Given the description of an element on the screen output the (x, y) to click on. 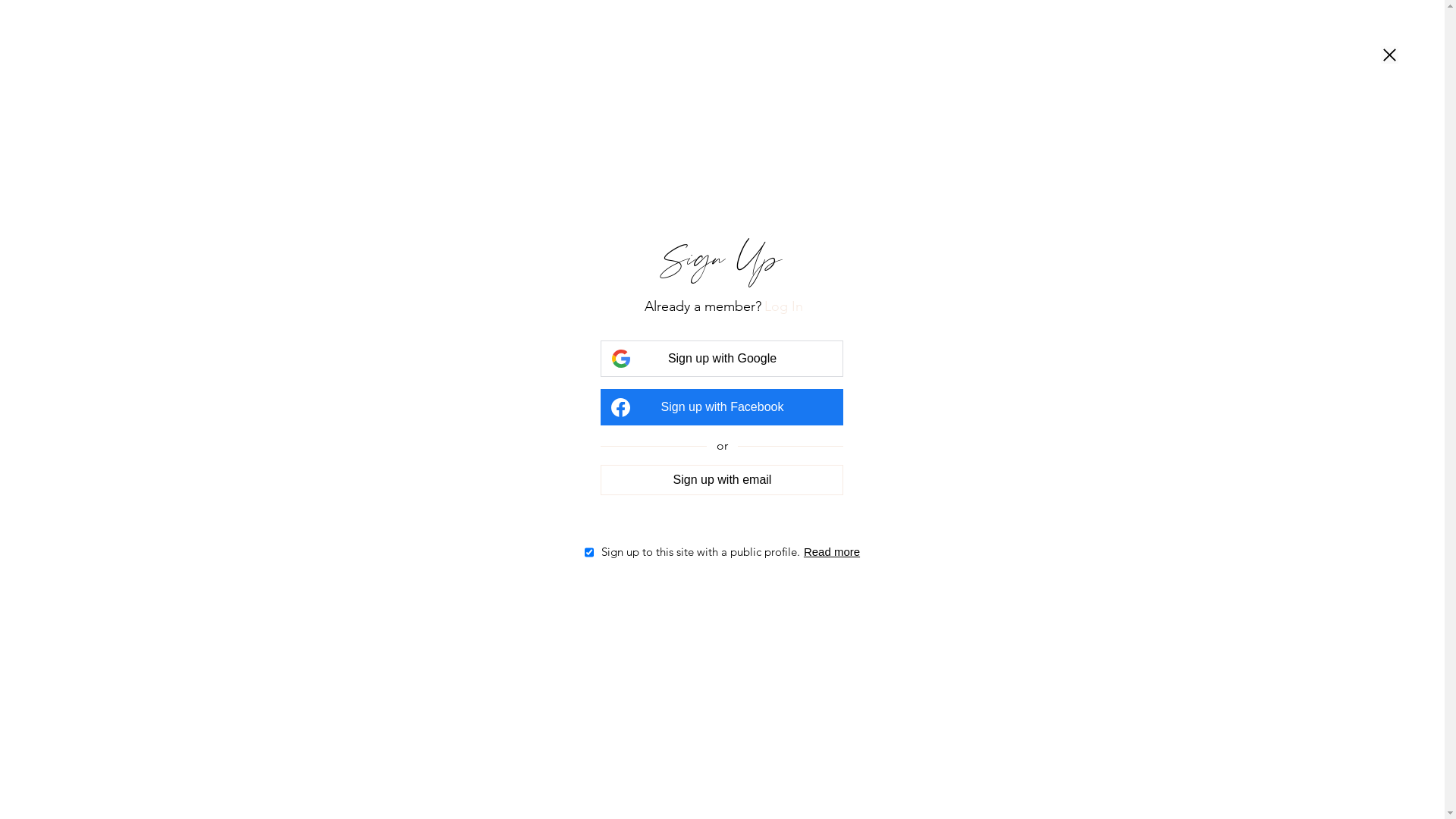
Sign up with Facebook Element type: text (721, 407)
Sign up with email Element type: text (721, 479)
Read more Element type: text (831, 551)
Log In Element type: text (783, 306)
Sign up with Google Element type: text (721, 358)
